Given the description of an element on the screen output the (x, y) to click on. 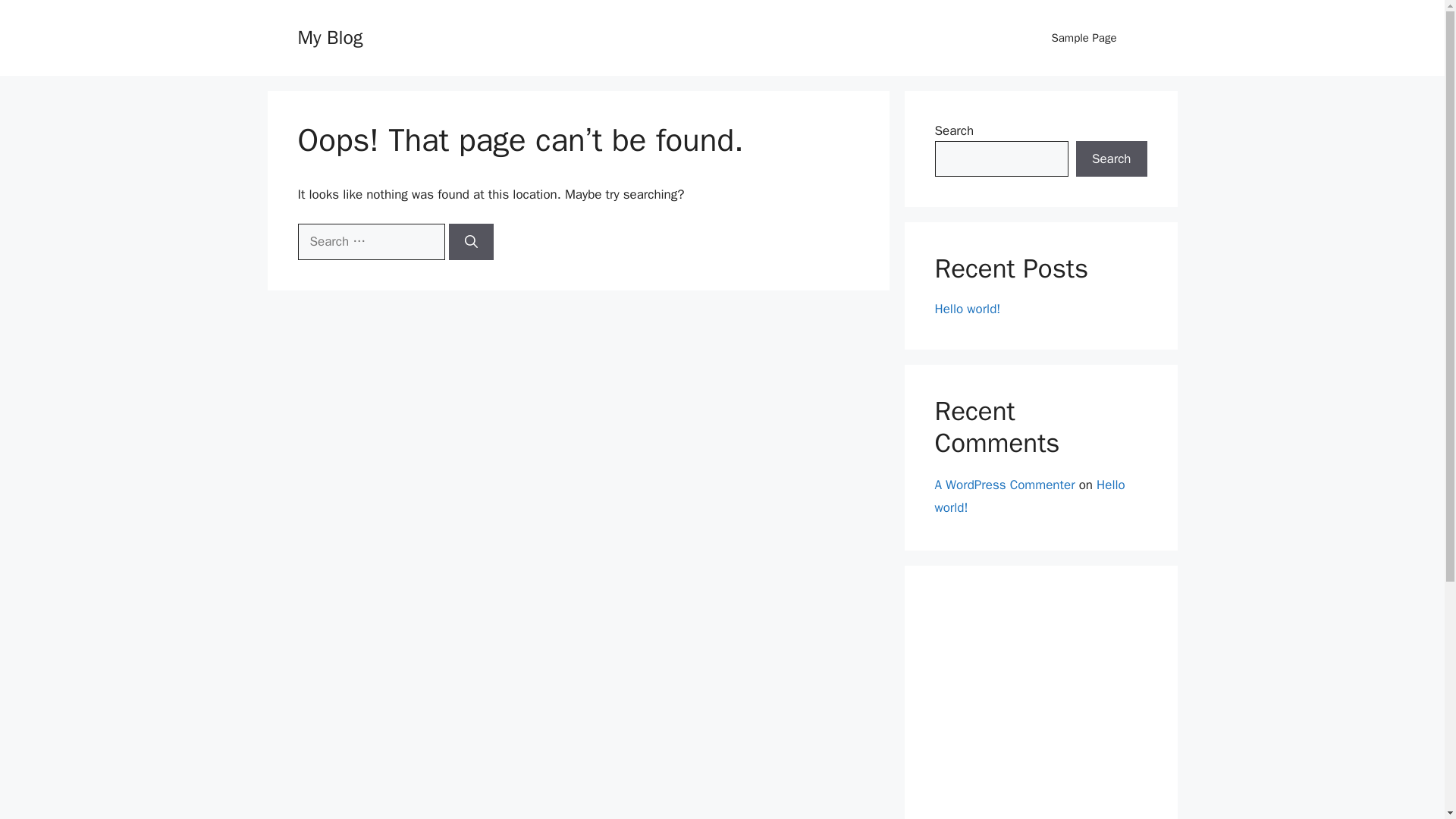
Advertisement (1040, 707)
Search for: (370, 241)
My Blog (329, 37)
Search (1111, 158)
Hello world! (967, 308)
A WordPress Commenter (1004, 483)
Hello world! (1029, 495)
Sample Page (1083, 37)
